Given the description of an element on the screen output the (x, y) to click on. 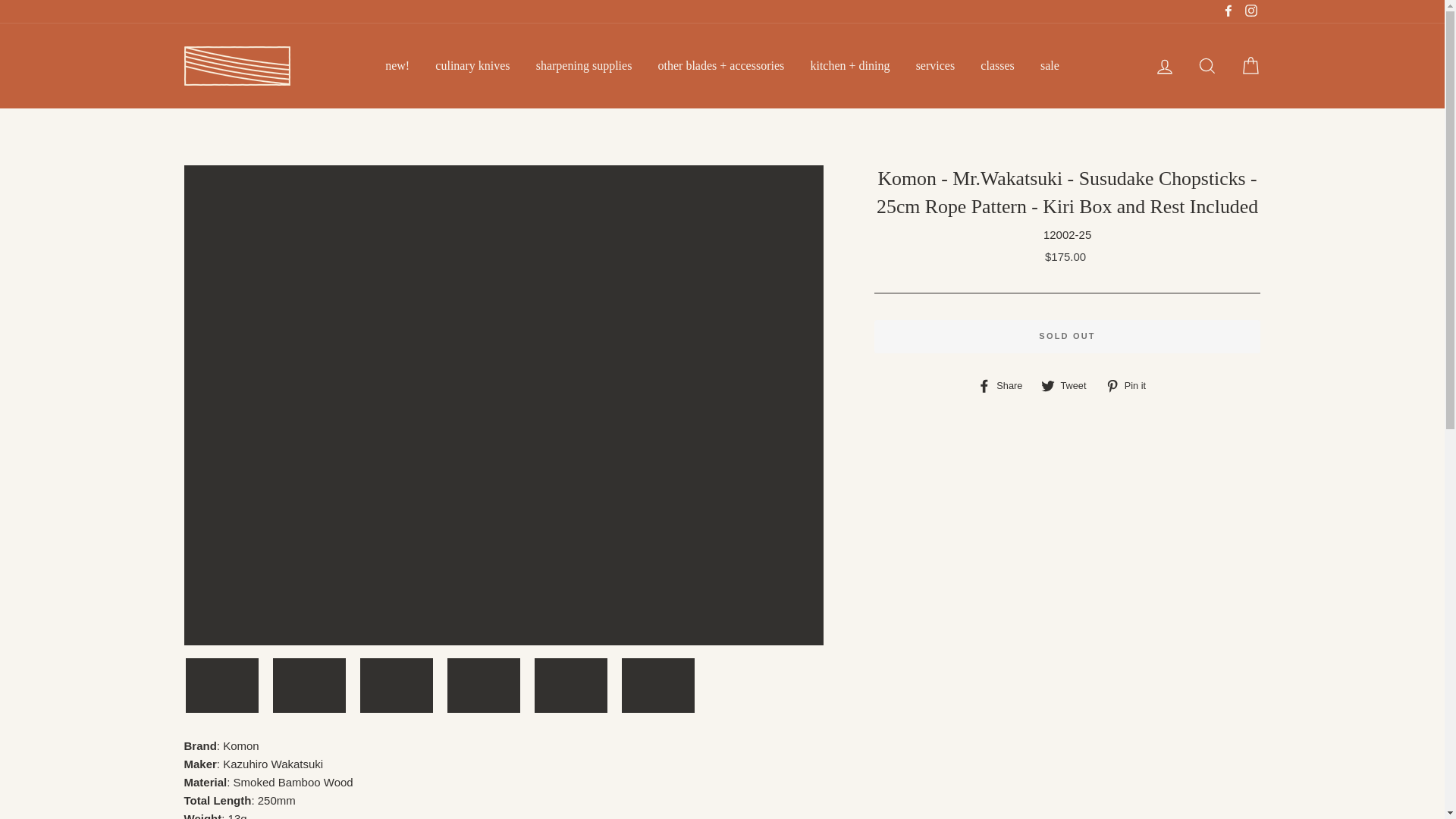
Share on Facebook (1004, 385)
Tweet on Twitter (1069, 385)
Pin on Pinterest (1131, 385)
